Given the description of an element on the screen output the (x, y) to click on. 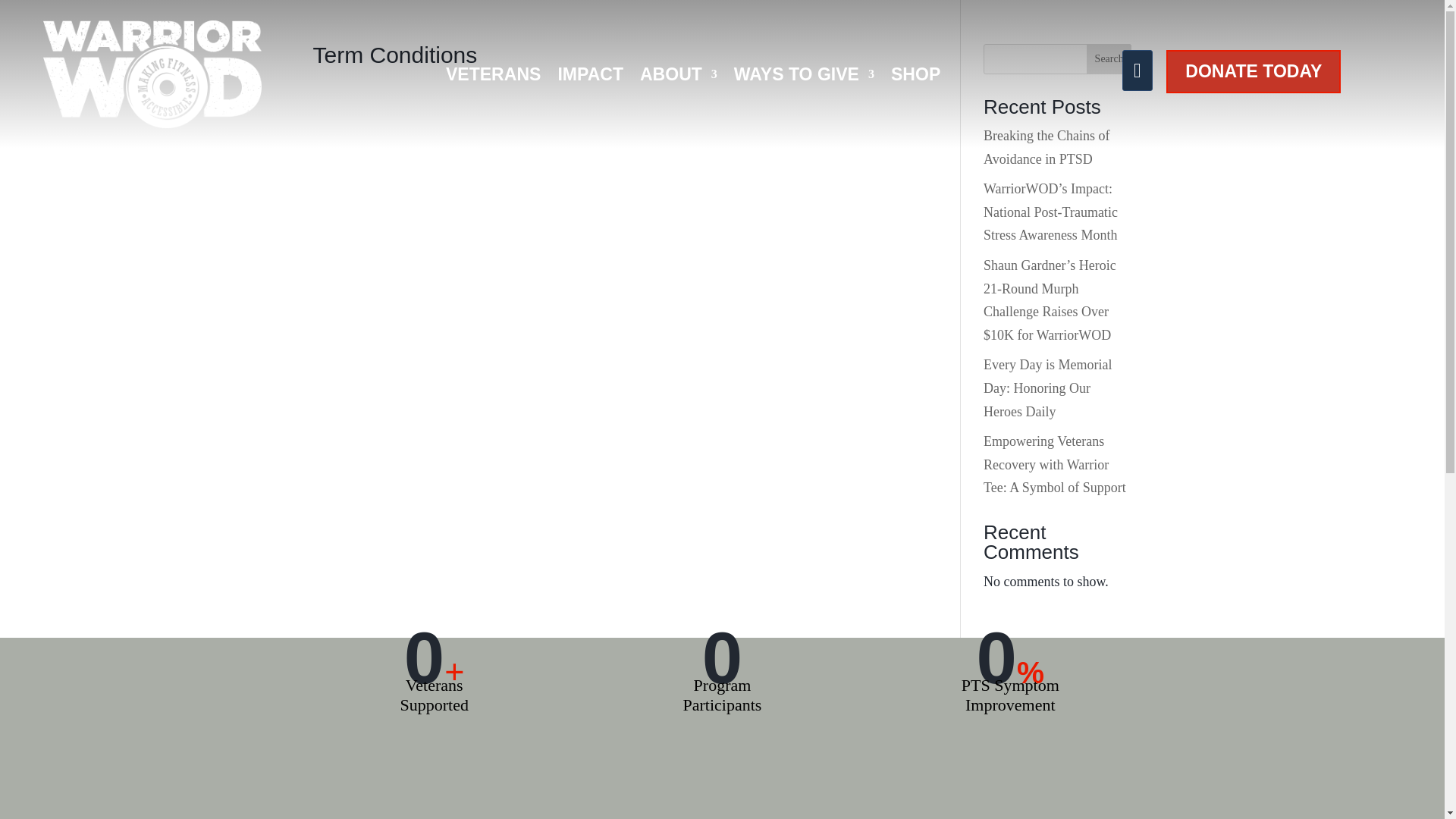
WWD-Logo-Primary- All White (152, 123)
DONATE TODAY (1253, 71)
IMPACT (590, 76)
VETERANS (492, 76)
ABOUT (678, 76)
WAYS TO GIVE (804, 76)
SHOP (915, 76)
